Given the description of an element on the screen output the (x, y) to click on. 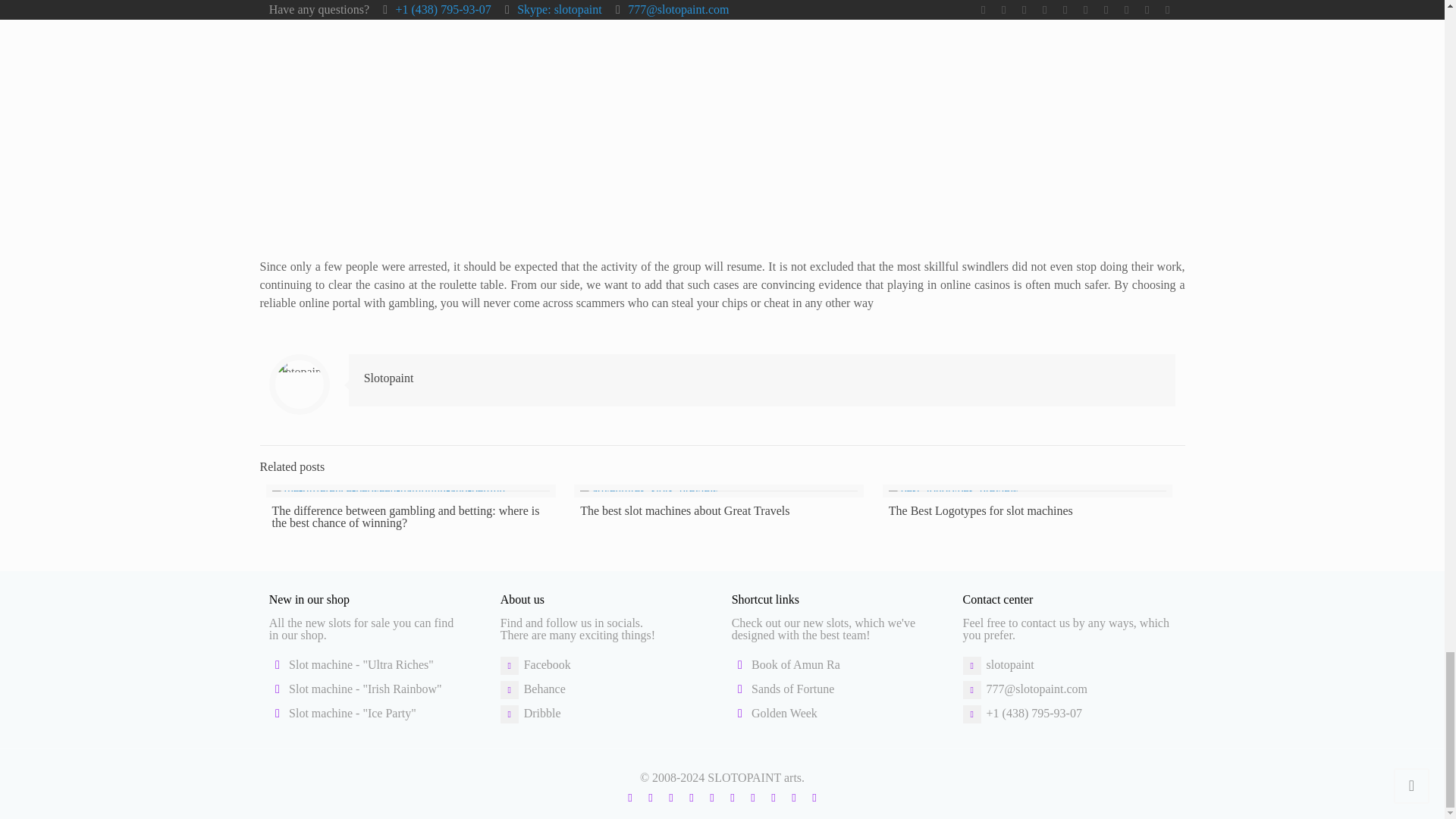
YouTube (711, 797)
Vimeo (690, 797)
Skype (629, 797)
Twitter (670, 797)
Facebook (650, 797)
